Given the description of an element on the screen output the (x, y) to click on. 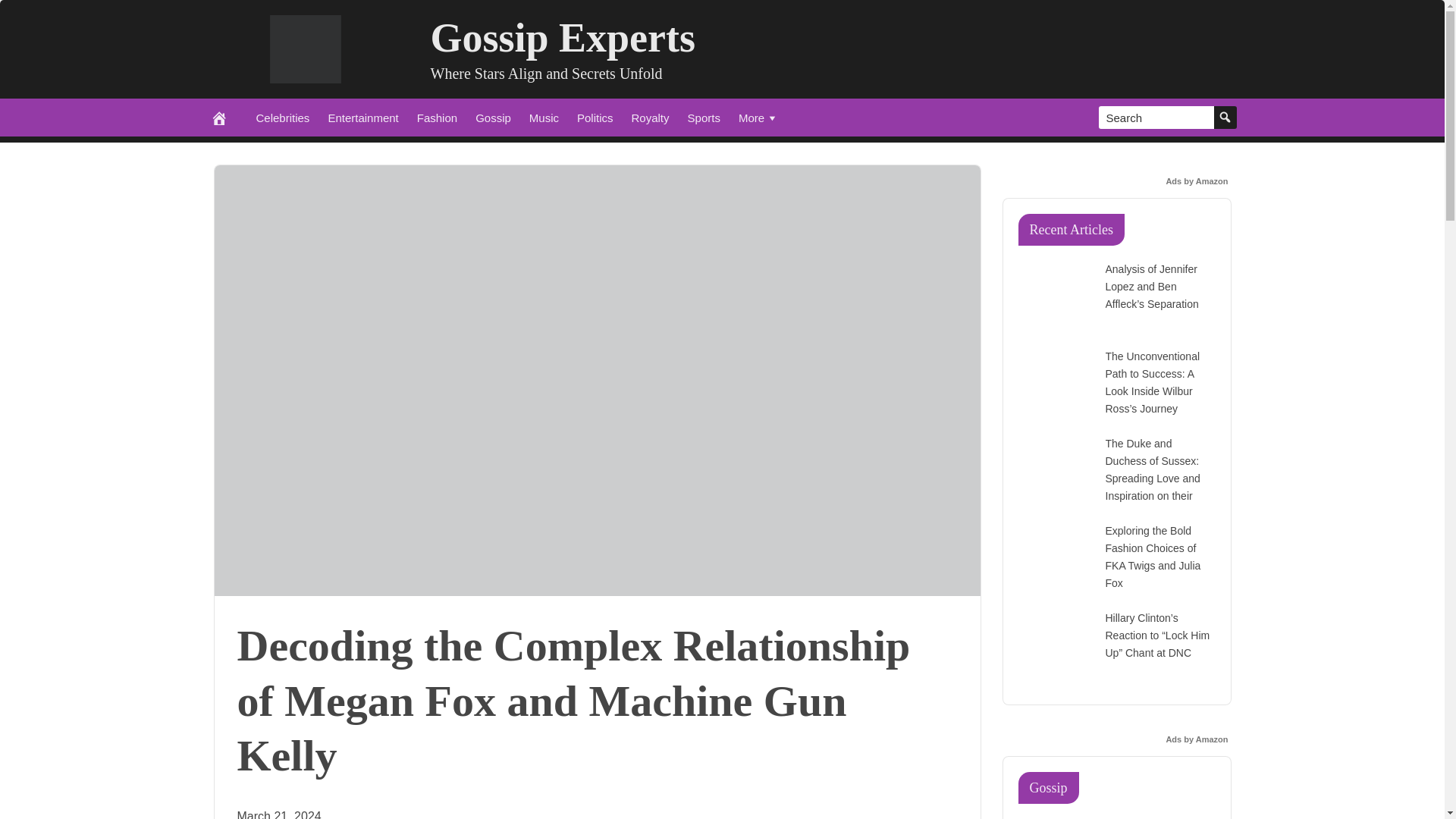
More (758, 117)
Music (543, 117)
Entertainment (362, 117)
Politics (595, 117)
Fashion (436, 117)
Sports (703, 117)
Celebrities (282, 117)
Gossip Experts (562, 37)
Royalty (650, 117)
Gossip (492, 117)
